Given the description of an element on the screen output the (x, y) to click on. 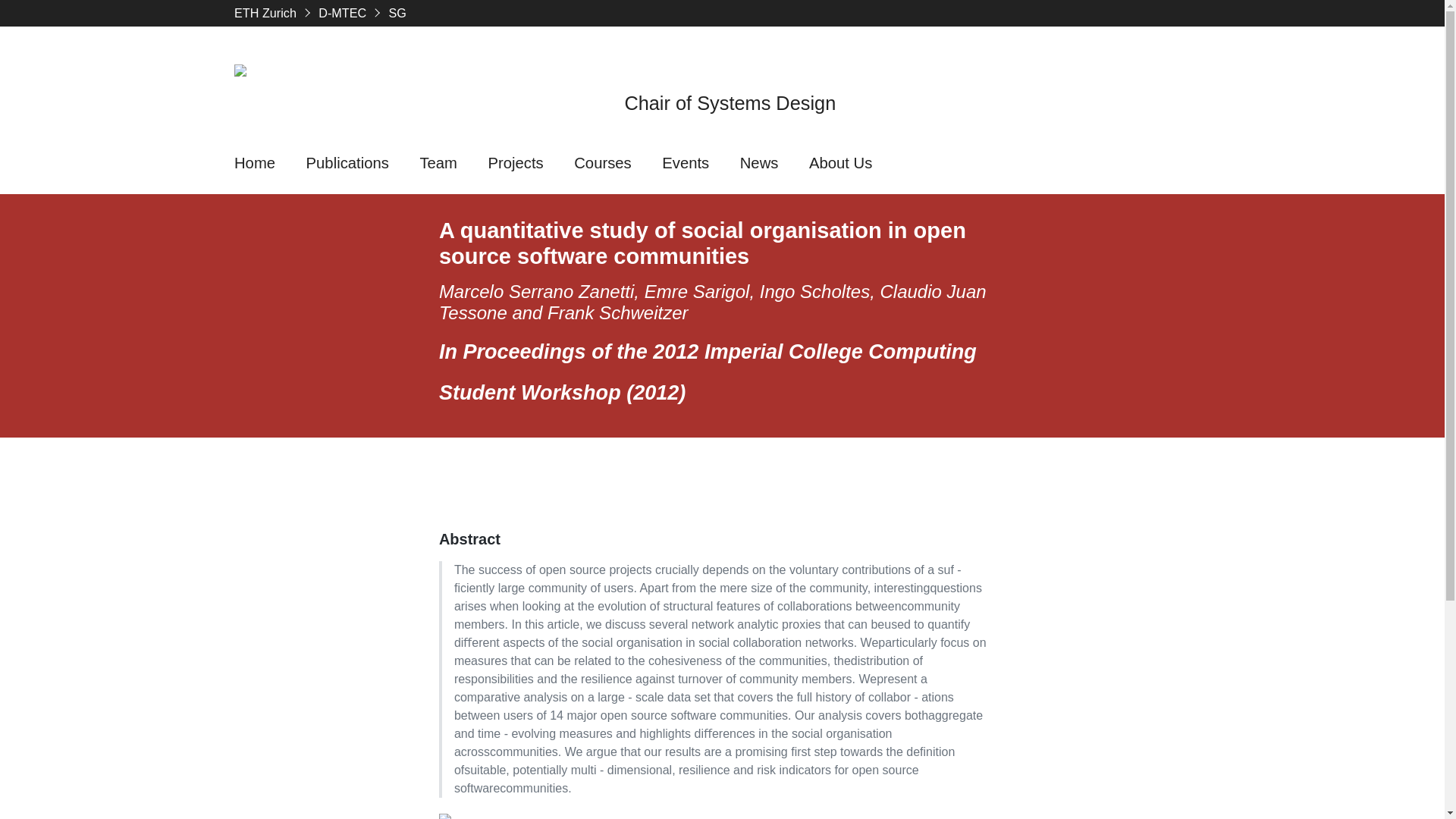
Home (255, 163)
Courses (602, 163)
Events (685, 163)
Team (437, 163)
ETH Zurich (265, 13)
Publications (346, 163)
Projects (515, 163)
News (758, 163)
D-MTEC (342, 13)
SG (396, 13)
About Us (840, 163)
Chair of Systems Design (729, 103)
